Given the description of an element on the screen output the (x, y) to click on. 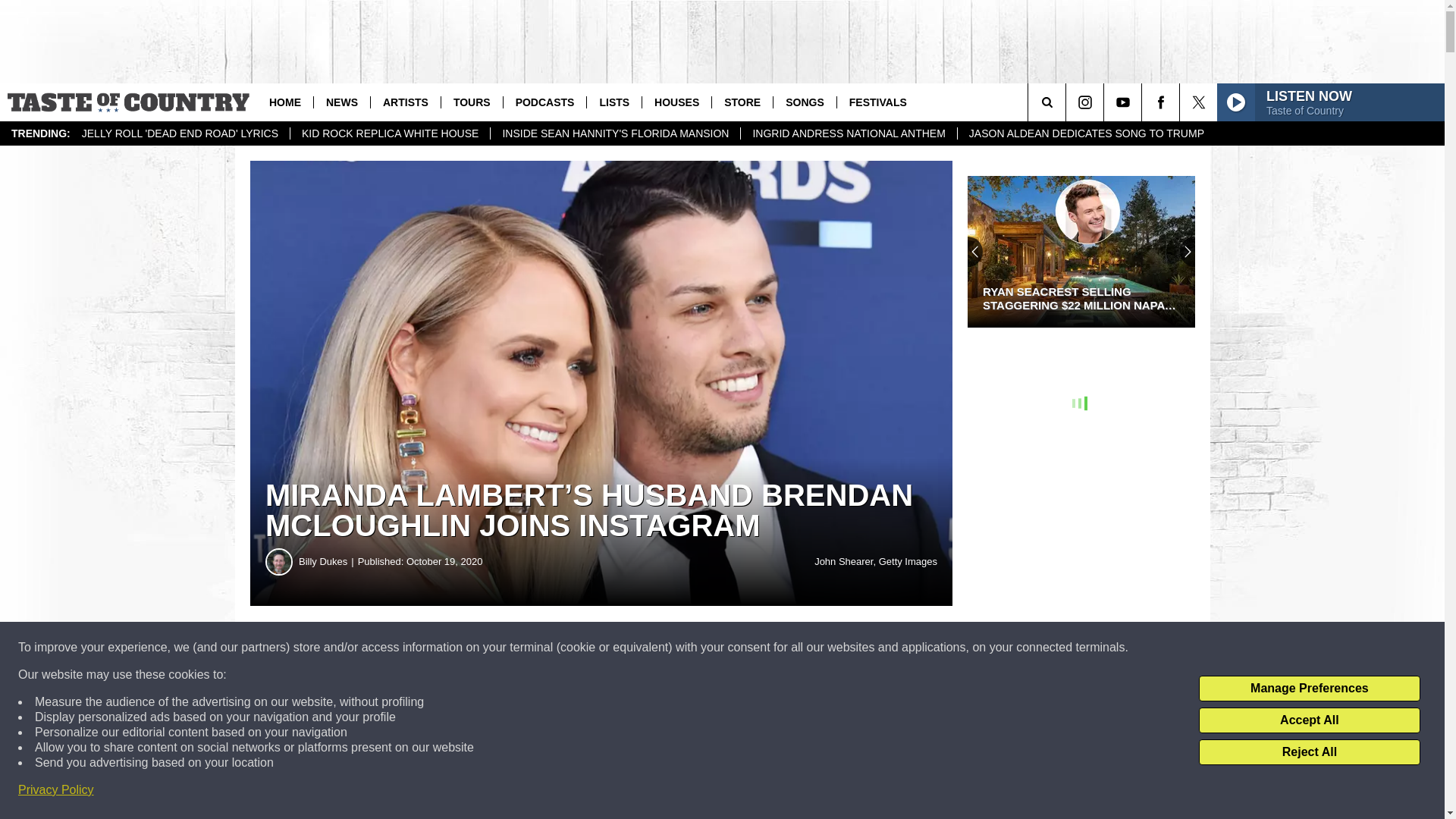
Billy Dukes (328, 561)
Privacy Policy (55, 789)
Miranda Lambert (376, 700)
FESTIVALS (876, 102)
SHARE (460, 647)
Visit us on Youtube (1122, 102)
JELLY ROLL 'DEAD END ROAD' LYRICS (179, 133)
SEARCH (1068, 102)
SEARCH (1068, 102)
SHARE (460, 647)
SEARCH (1068, 102)
Billy Dukes (278, 561)
INSIDE SEAN HANNITY'S FLORIDA MANSION (614, 133)
STORE (742, 102)
HOUSES (676, 102)
